Given the description of an element on the screen output the (x, y) to click on. 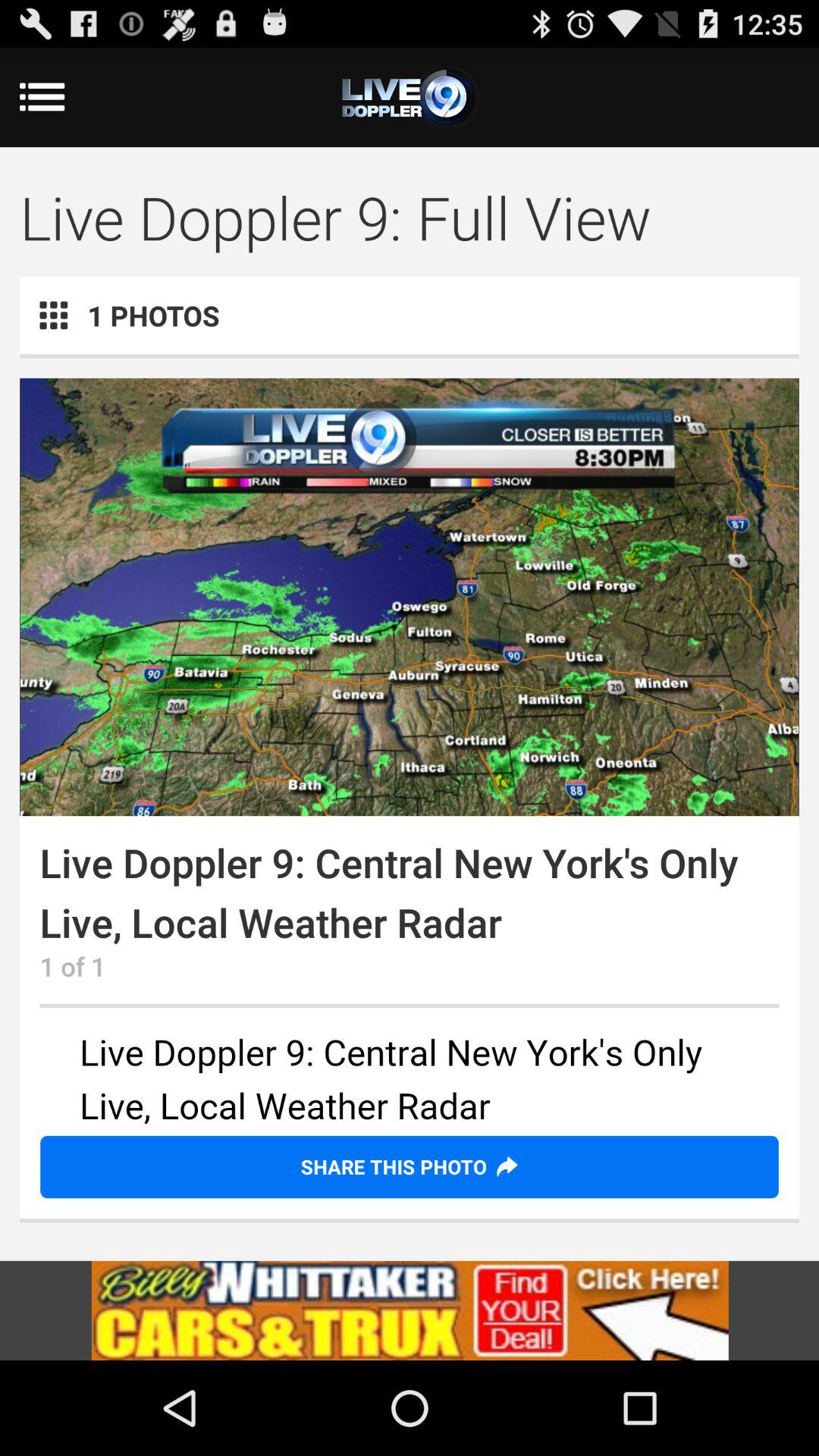
go homepage (409, 97)
